Given the description of an element on the screen output the (x, y) to click on. 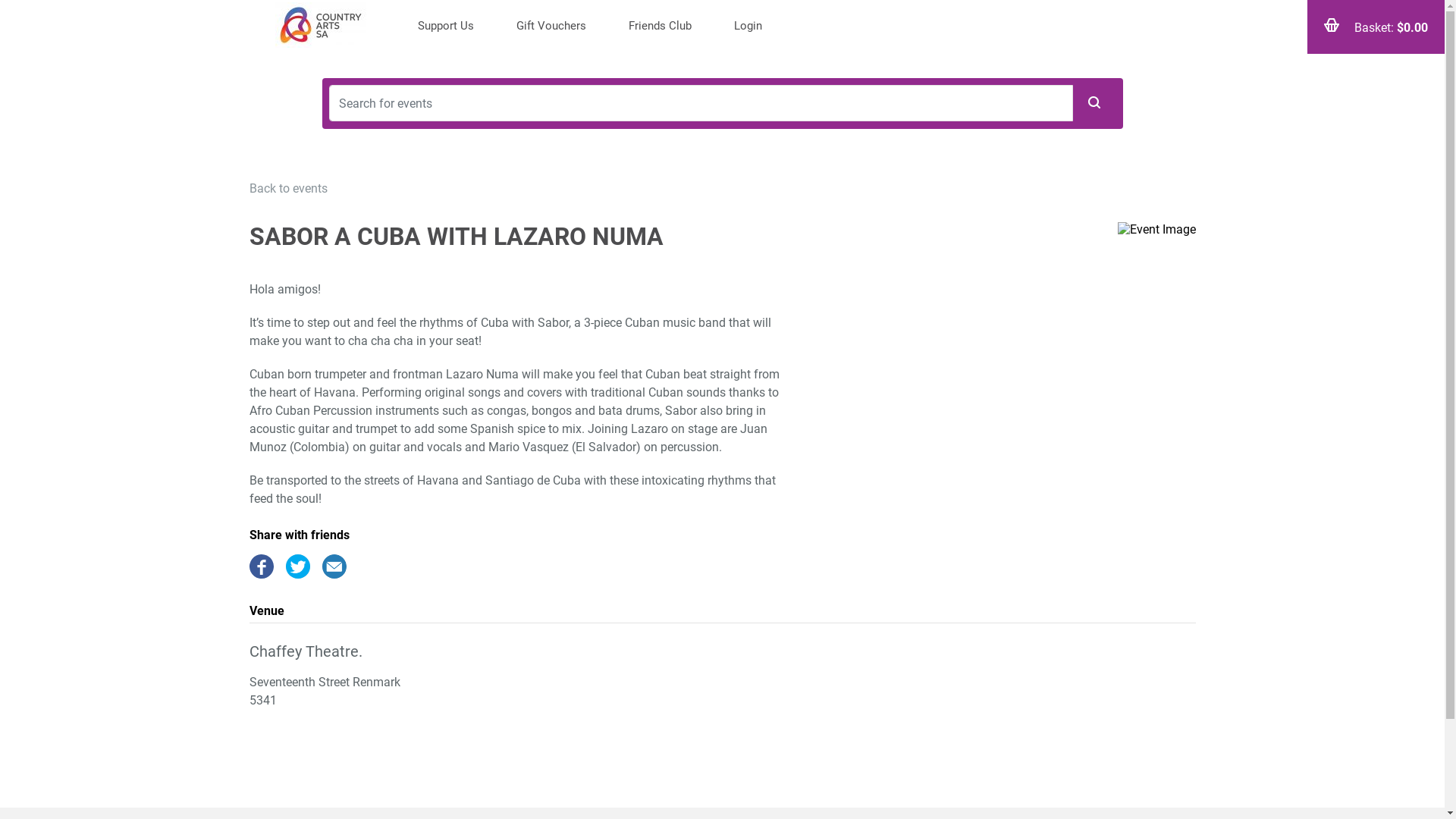
Support Us Element type: text (445, 26)
Friends Club Element type: text (658, 26)
Login Element type: text (748, 26)
Basket: $0.00 Element type: text (1375, 26)
Gift Vouchers Element type: text (550, 26)
Back to events Element type: text (287, 188)
